Given the description of an element on the screen output the (x, y) to click on. 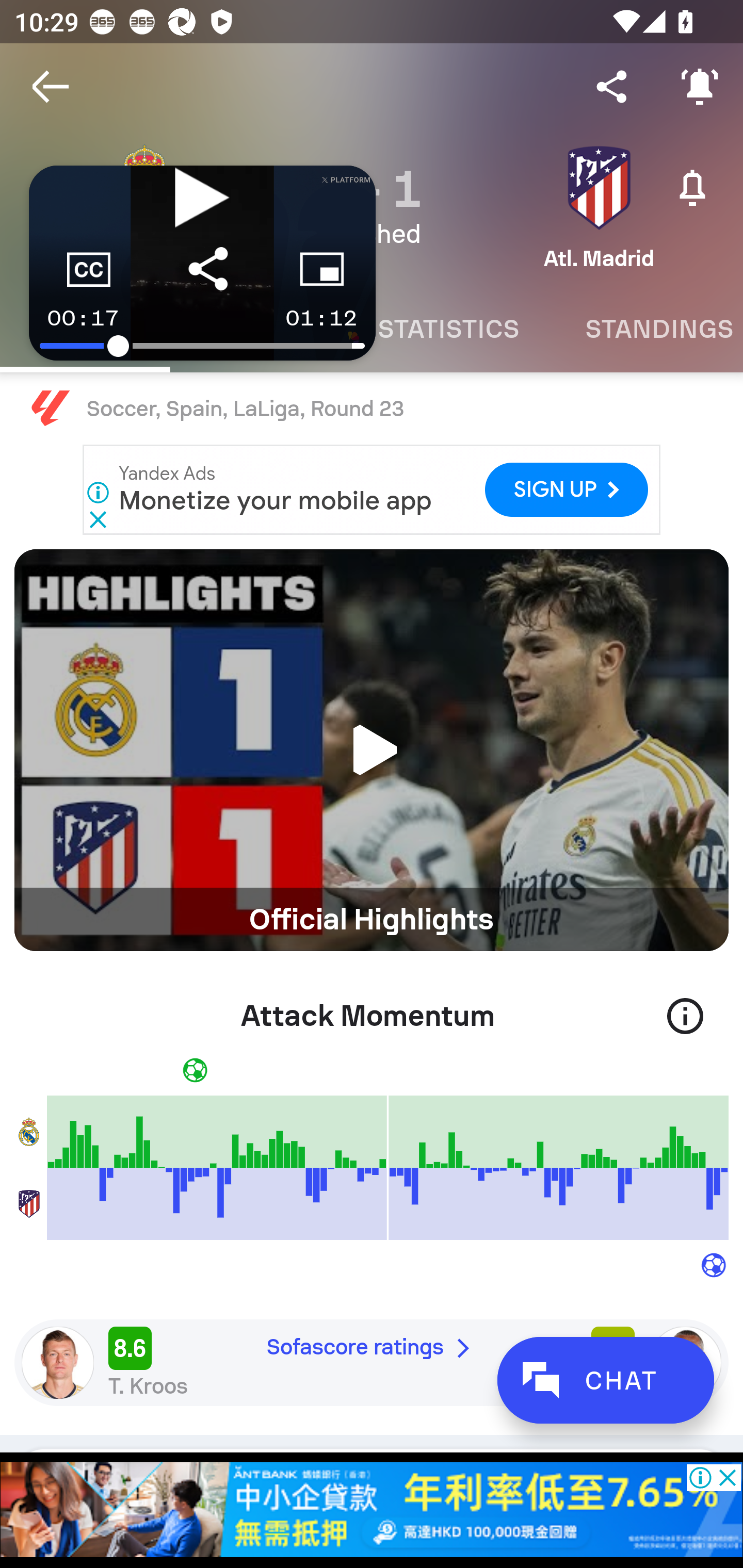
Navigate up (50, 86)
Statistics STATISTICS (448, 329)
Standings STANDINGS (647, 329)
Soccer, Spain, LaLiga, Round 23 (371, 409)
Yandex Ads (167, 474)
SIGN UP (566, 489)
Monetize your mobile app (275, 500)
8.6 Sofascore ratings 7.6 T. Kroos A. Griezmann (371, 1362)
CHAT (605, 1380)
